Given the description of an element on the screen output the (x, y) to click on. 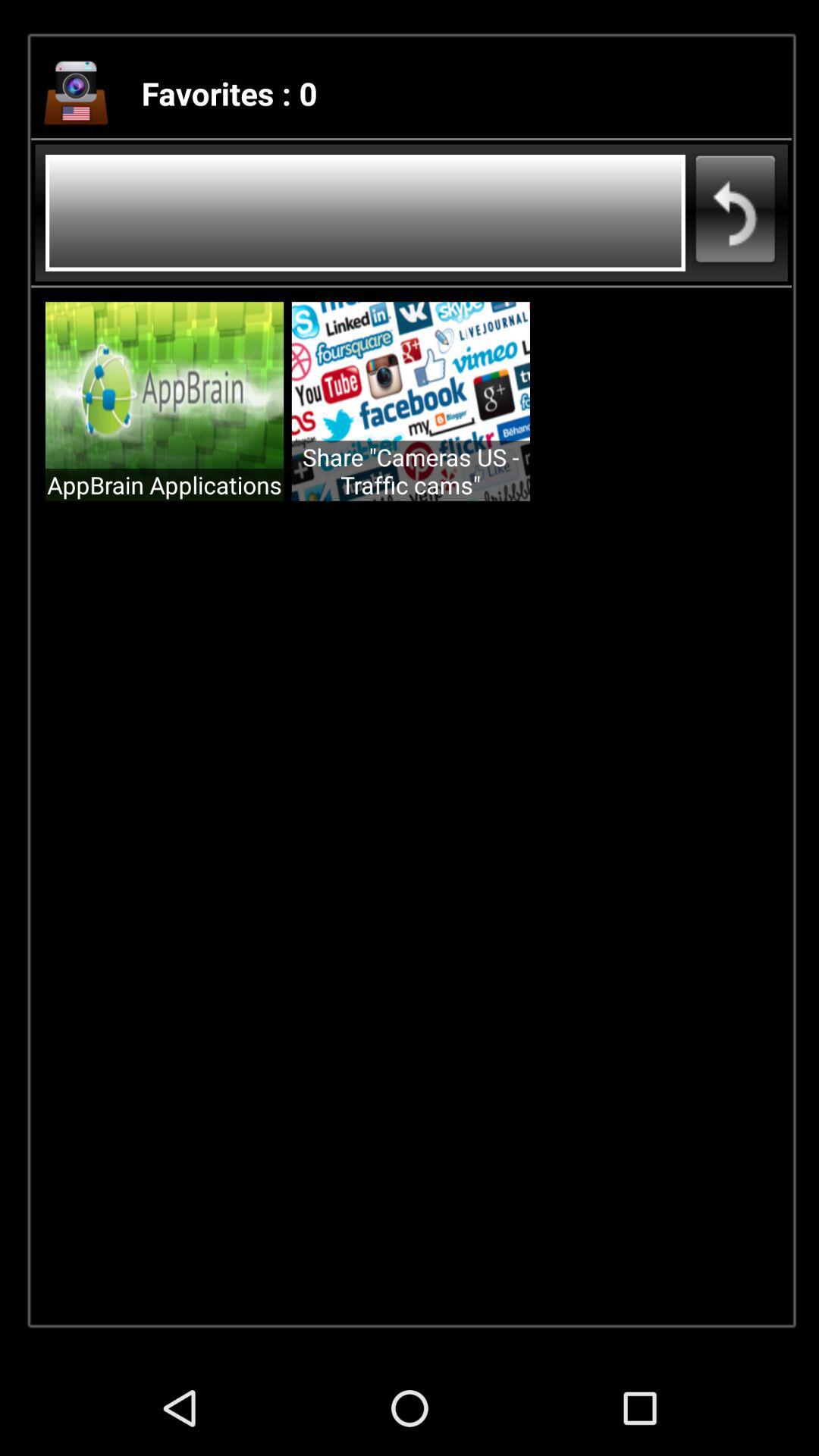
search bar (365, 212)
